Given the description of an element on the screen output the (x, y) to click on. 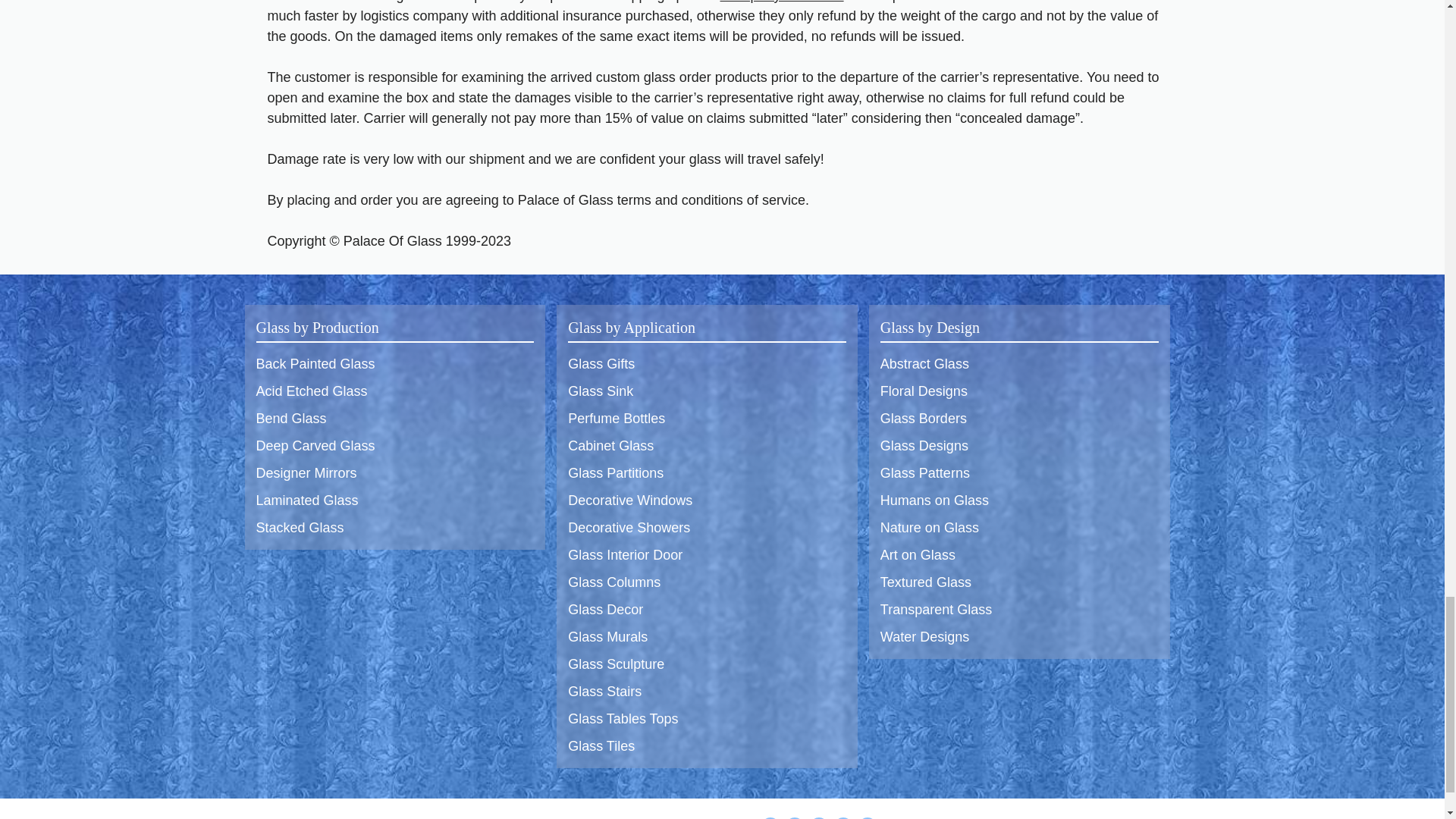
Glass Murals (607, 636)
Decorative Windows (630, 500)
Glass Sink (600, 391)
Acid Etched Glass (312, 391)
Glass Decor (605, 609)
Glass Sculpture (615, 663)
Glass Tiles (600, 745)
Glass by Production (317, 327)
Perfume Bottles (616, 418)
Glass Tables Tops (622, 718)
